Given the description of an element on the screen output the (x, y) to click on. 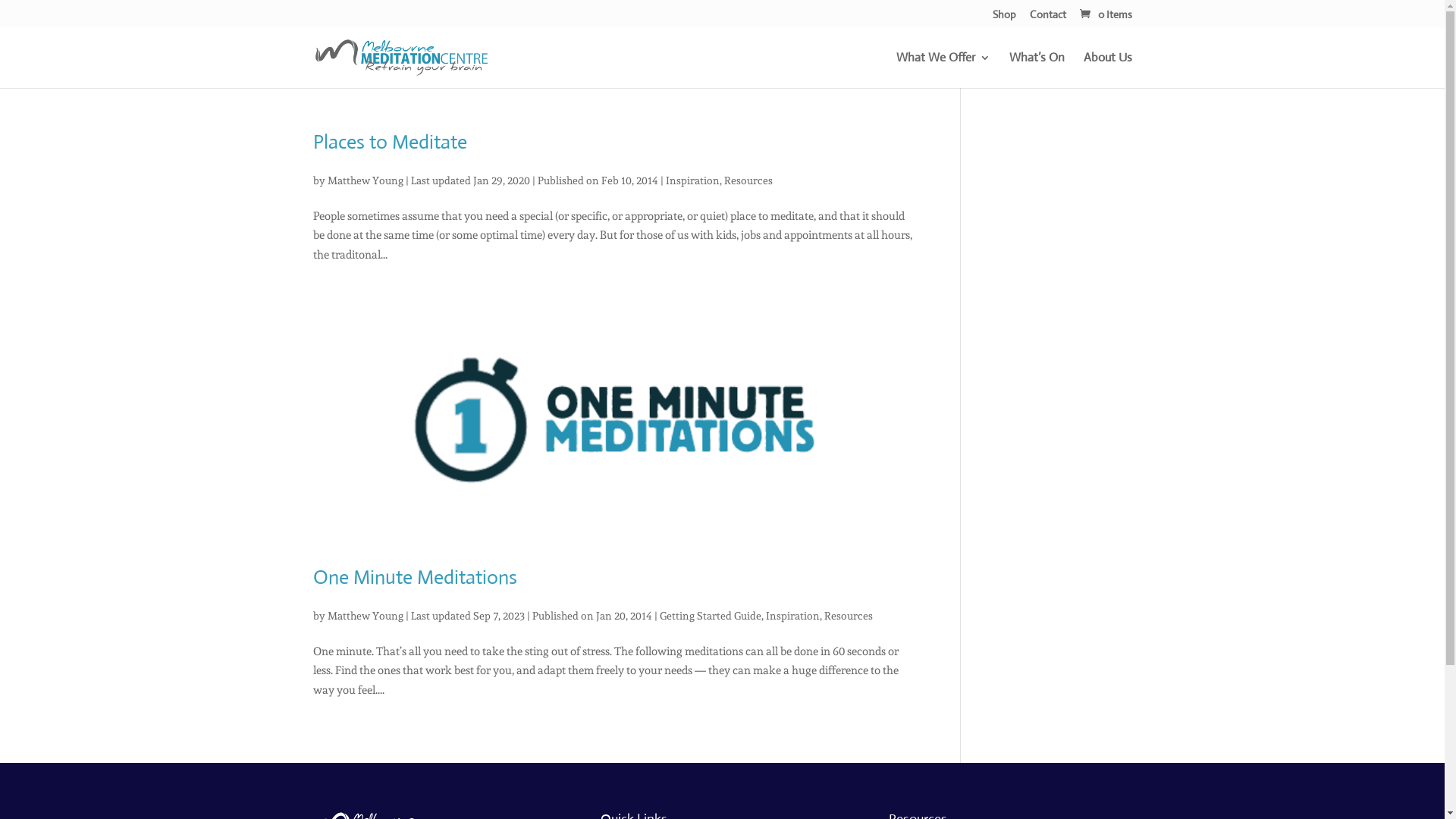
What We Offer Element type: text (943, 69)
Resources Element type: text (747, 180)
One Minute Meditations Element type: text (414, 576)
0 Items Element type: text (1103, 14)
Shop Element type: text (1003, 18)
Places to Meditate Element type: text (389, 141)
About Us Element type: text (1106, 69)
Inspiration Element type: text (692, 180)
Inspiration Element type: text (792, 615)
Getting Started Guide Element type: text (710, 615)
Contact Element type: text (1047, 18)
Matthew Young Element type: text (365, 180)
Matthew Young Element type: text (365, 615)
Resources Element type: text (847, 615)
